Given the description of an element on the screen output the (x, y) to click on. 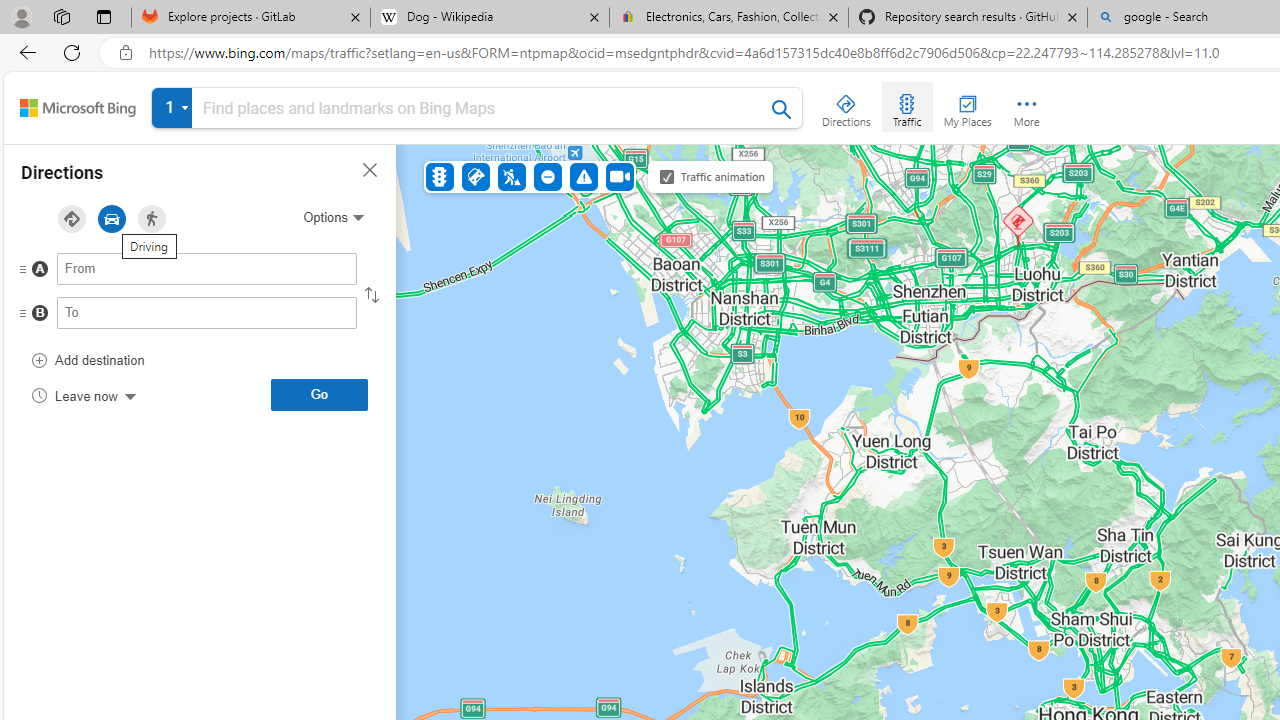
Traffic animation (667, 176)
To (207, 312)
Miscellaneous incidents (583, 176)
Leave now (83, 394)
Search Bing Maps (781, 109)
Driving (111, 219)
Construction (511, 176)
My Places (967, 106)
Class: sbElement (77, 107)
More (1026, 106)
